Given the description of an element on the screen output the (x, y) to click on. 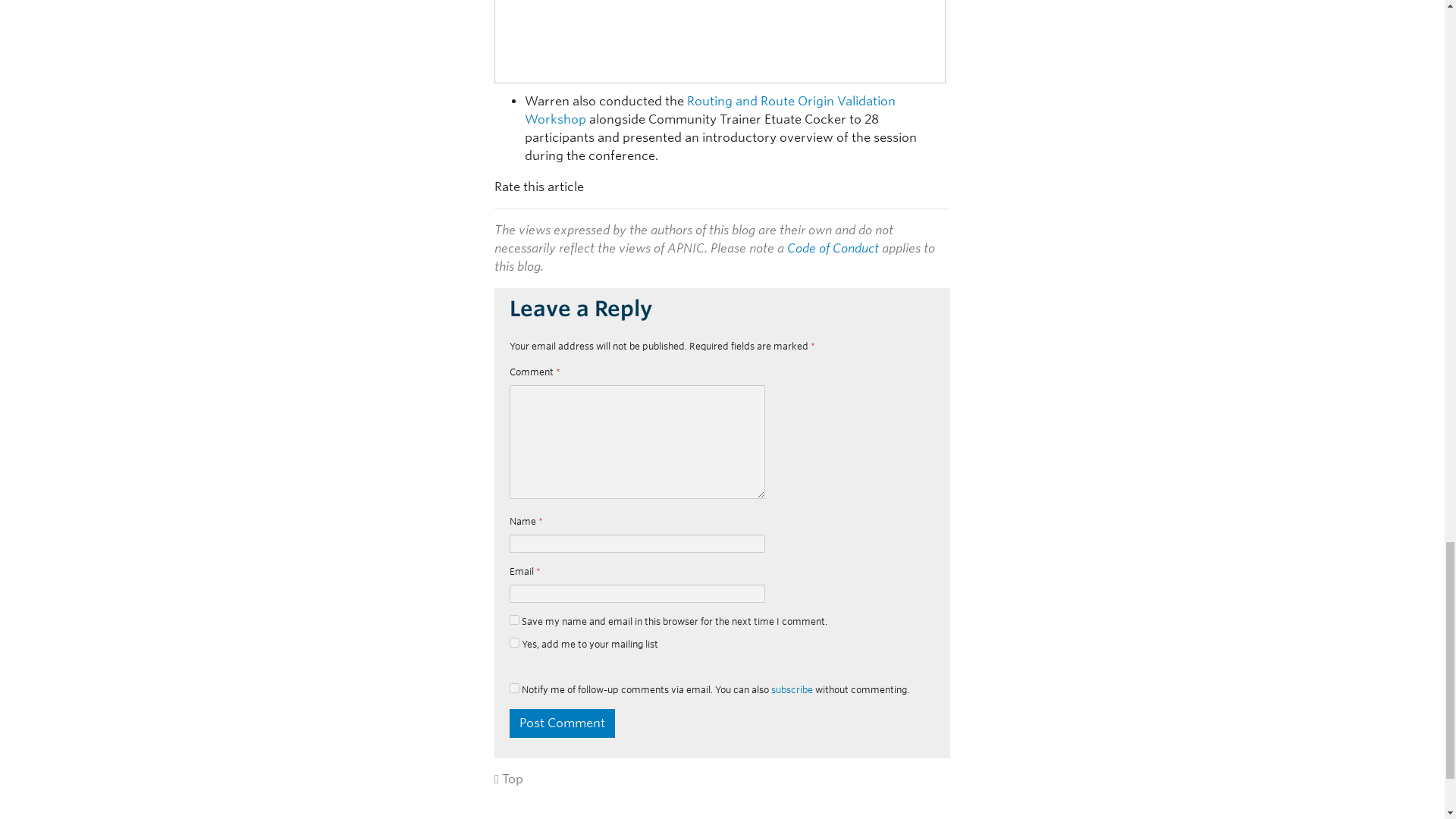
yes (514, 687)
Post Comment (561, 723)
yes (514, 619)
1 (514, 642)
